Given the description of an element on the screen output the (x, y) to click on. 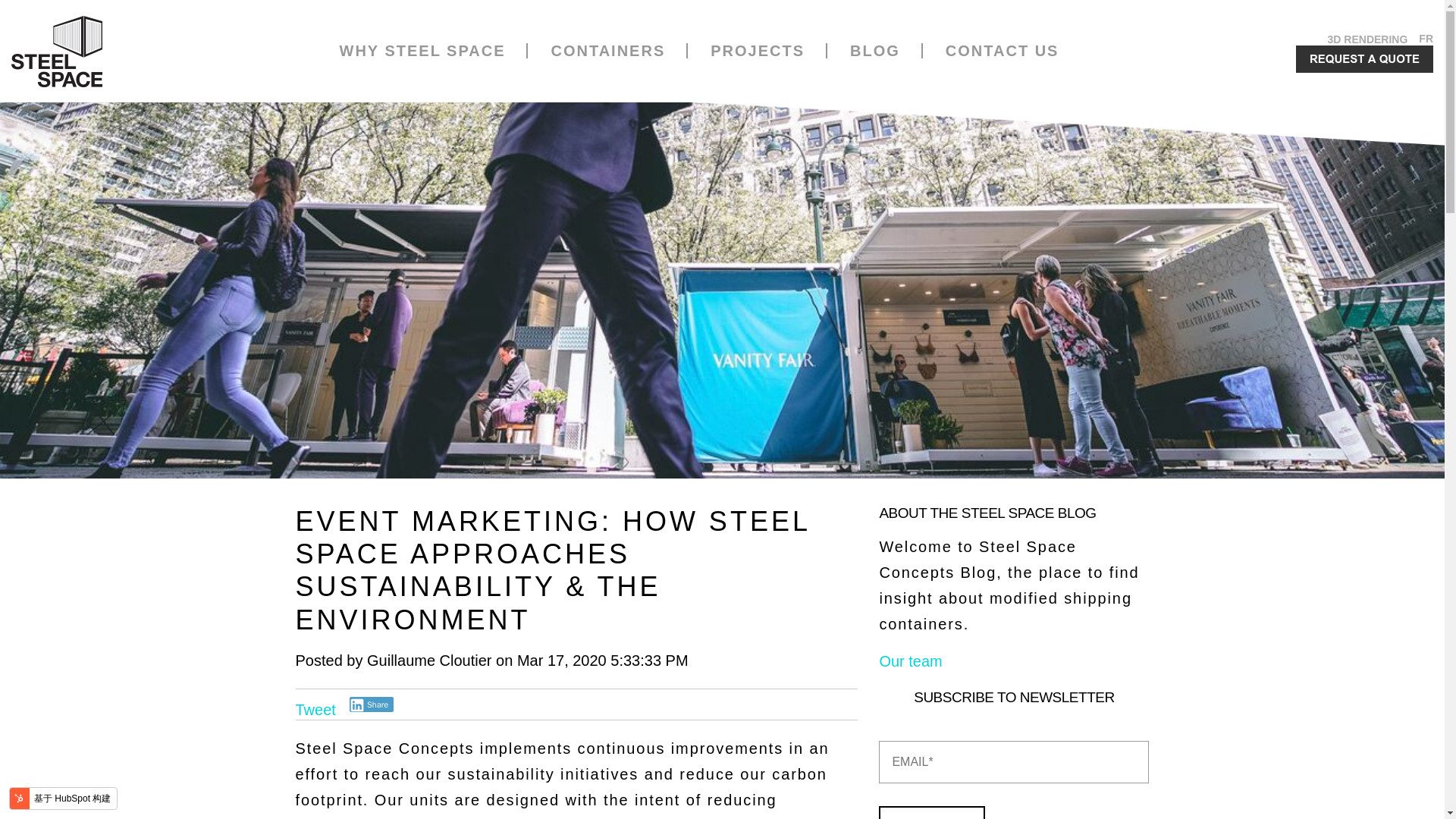
Send (932, 812)
WHY STEEL SPACE (422, 50)
PROJECTS (757, 50)
BLOG (875, 50)
3D RENDERING (1367, 38)
CONTACT US (1002, 50)
Send (932, 812)
FR (1425, 38)
Our team (910, 660)
CONTAINERS (607, 50)
Share (371, 703)
Tweet (318, 707)
